Given the description of an element on the screen output the (x, y) to click on. 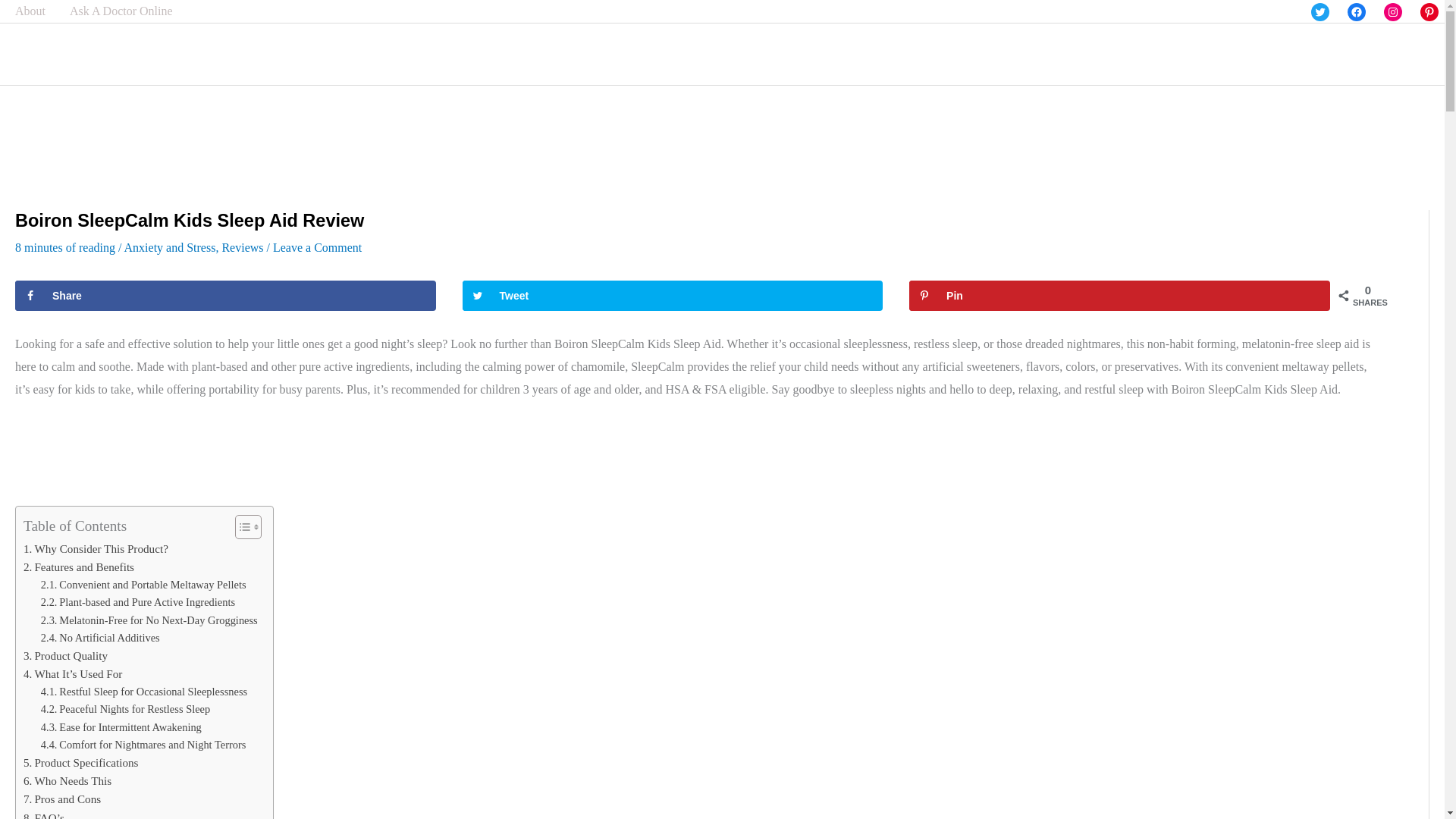
Tweet (673, 295)
Home Remedies (941, 55)
Product Specifications (80, 762)
Save to Pinterest (1119, 295)
Restful Sleep for Occasional Sleeplessness (143, 692)
Anti-aging (1249, 55)
Pros and Cons (61, 799)
Reviews (856, 55)
About (36, 11)
Ease for Intermittent Awakening (121, 727)
